Given the description of an element on the screen output the (x, y) to click on. 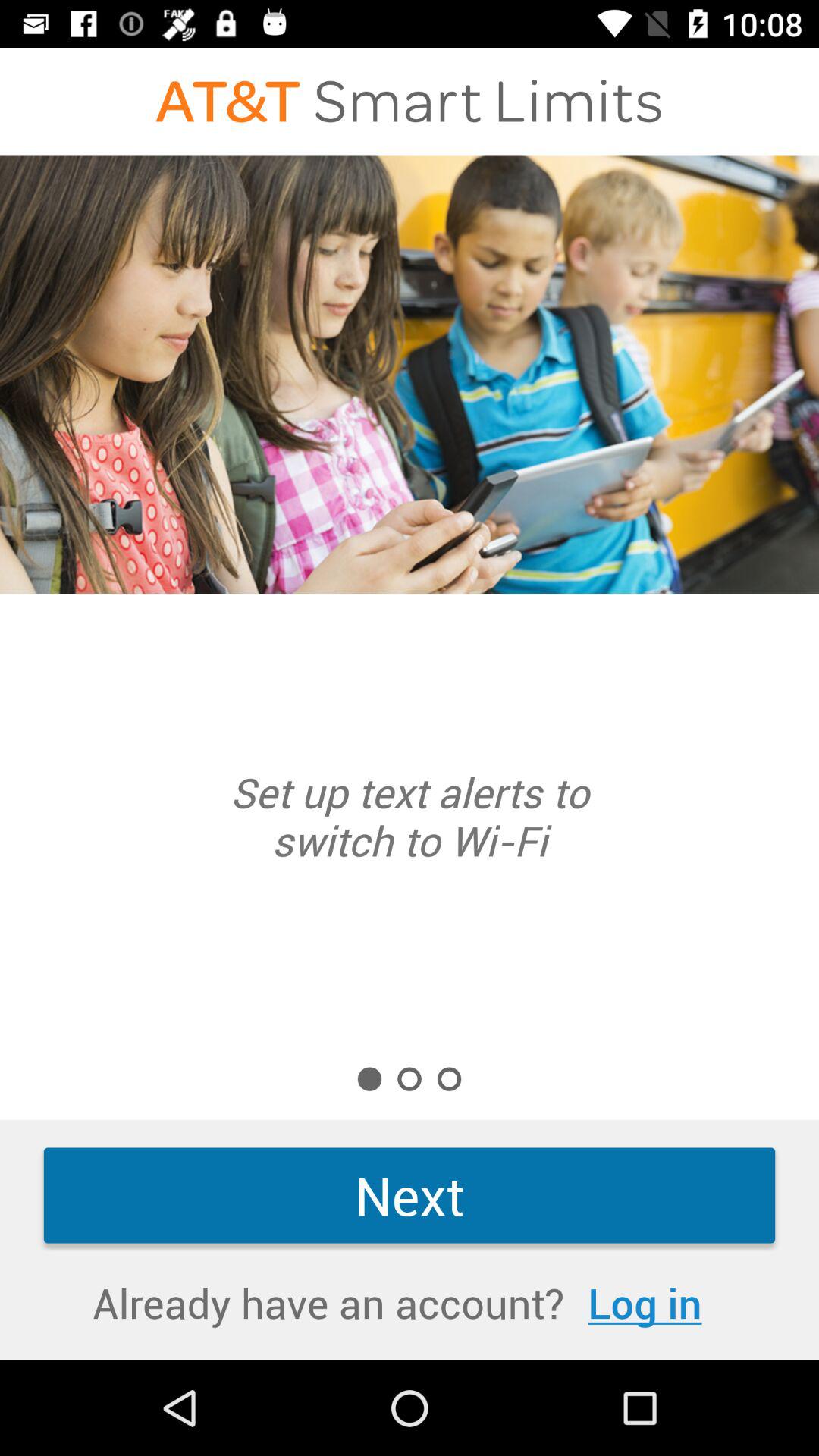
open the next (409, 1195)
